Given the description of an element on the screen output the (x, y) to click on. 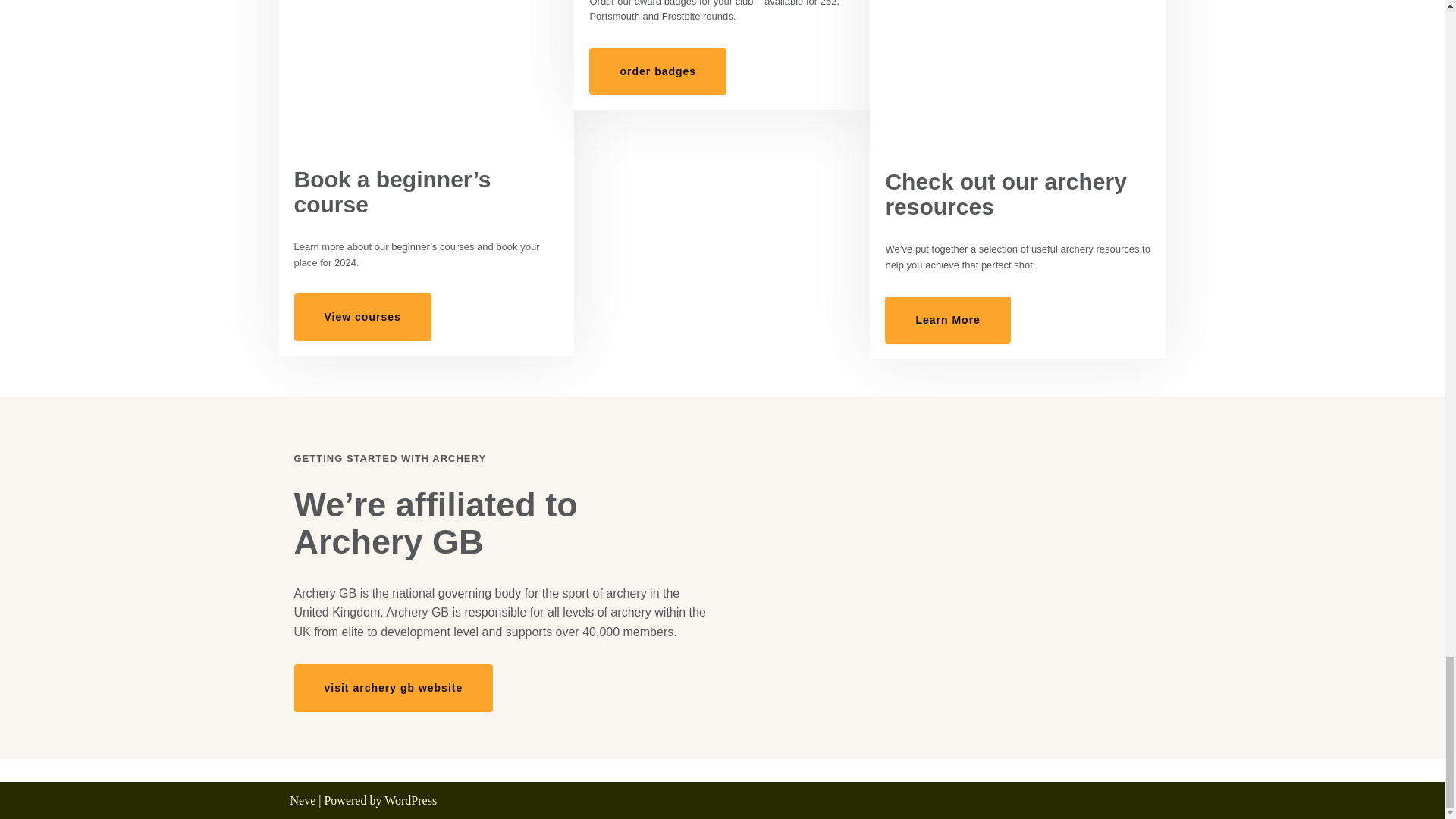
visit archery gb website (393, 687)
Learn More (947, 319)
Neve (302, 799)
order badges (657, 71)
WordPress (410, 799)
View courses (362, 316)
Archery GB (943, 571)
